Given the description of an element on the screen output the (x, y) to click on. 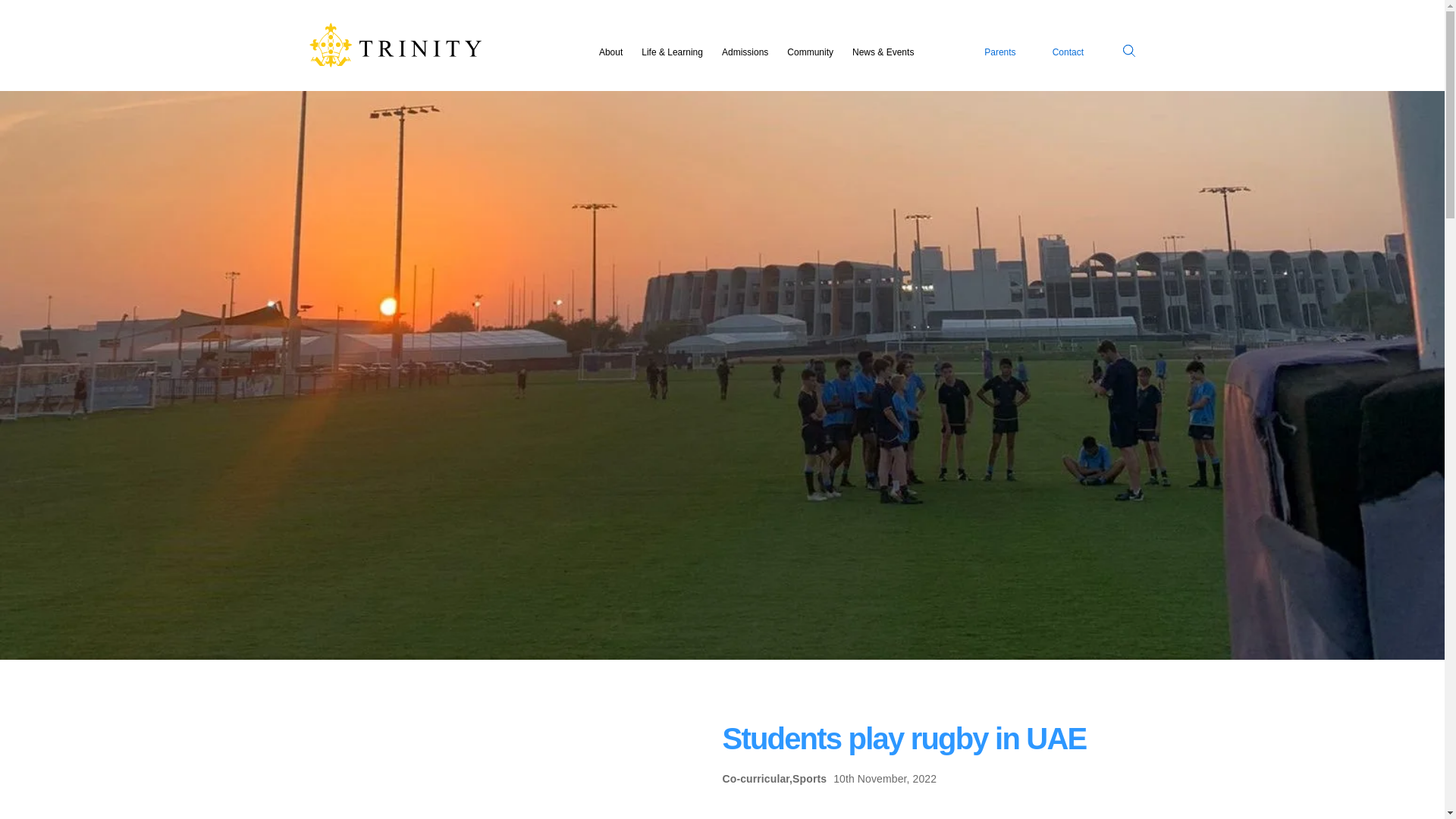
About (610, 52)
Admissions (745, 52)
